Given the description of an element on the screen output the (x, y) to click on. 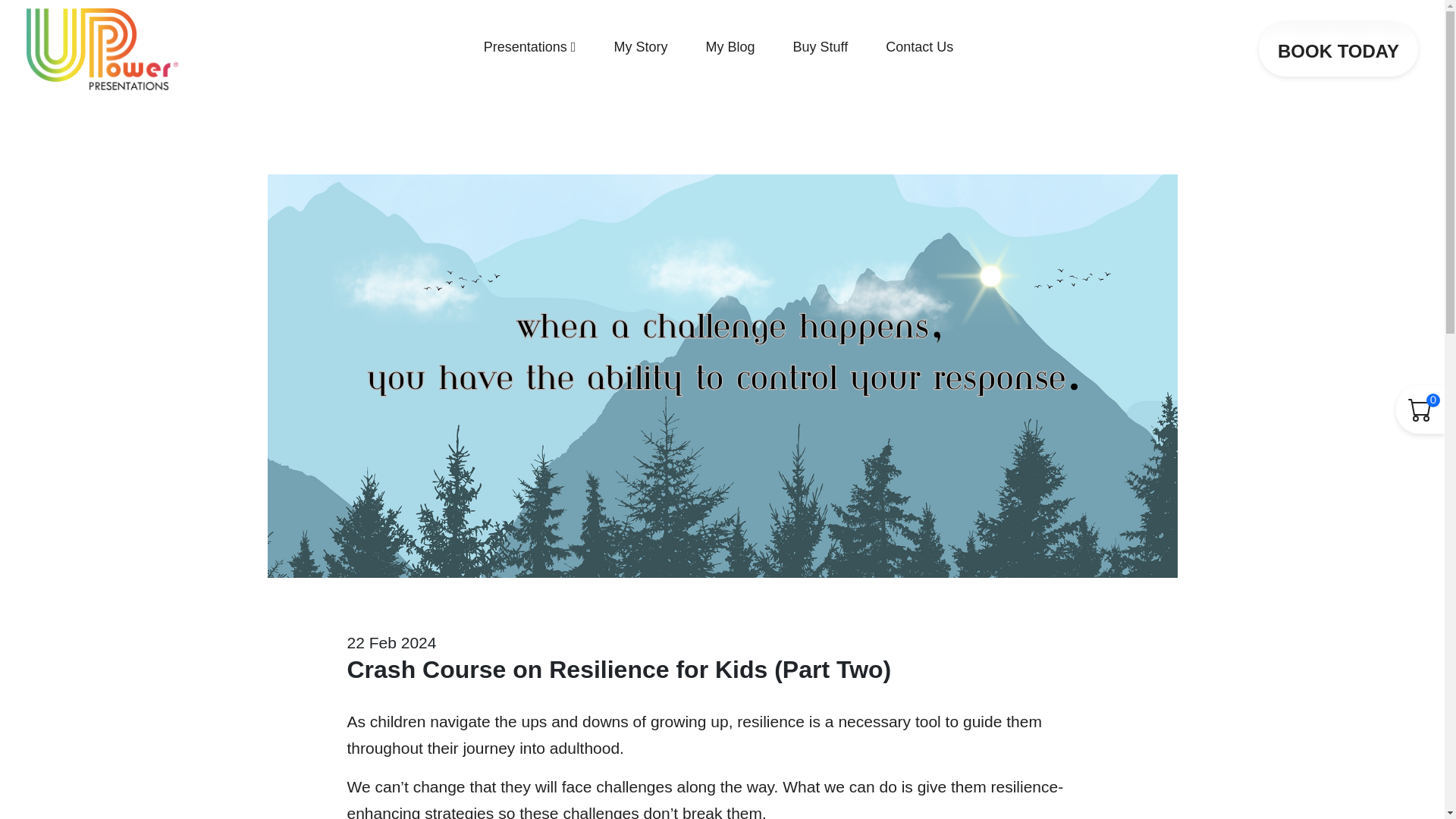
My Story (639, 48)
Presentations (529, 48)
Contact Us (919, 48)
My Blog (729, 48)
BOOK TODAY (1338, 49)
Buy Stuff (819, 48)
